Given the description of an element on the screen output the (x, y) to click on. 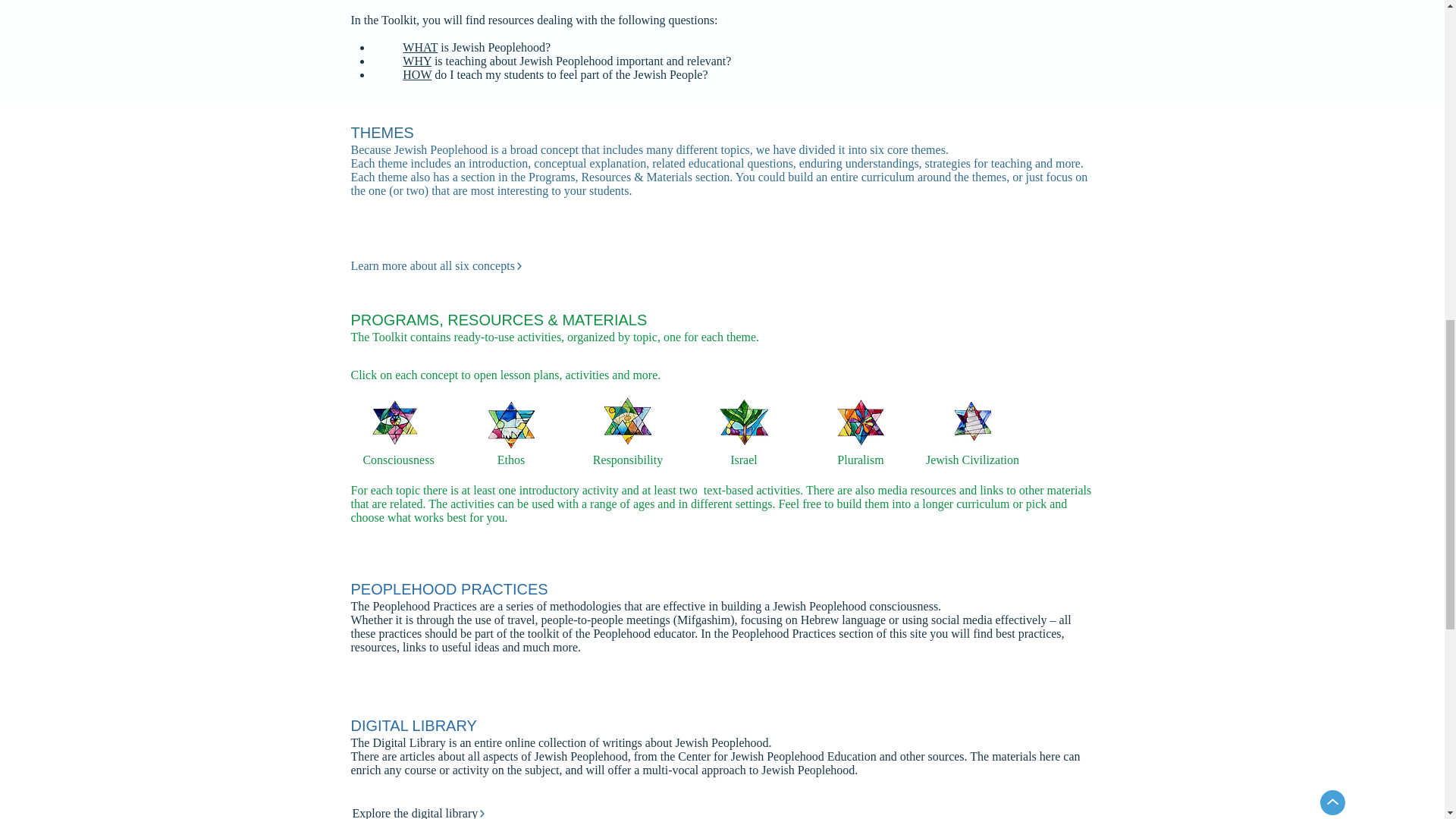
teaching about Jewish Peoplehood  (530, 60)
Consciousness (397, 459)
Responsibility (627, 459)
Ethos (511, 459)
WHY  (418, 60)
Learn more about all six concepts (501, 265)
WHAT is Jewish Peoplehood? (476, 47)
HOW (416, 74)
